Given the description of an element on the screen output the (x, y) to click on. 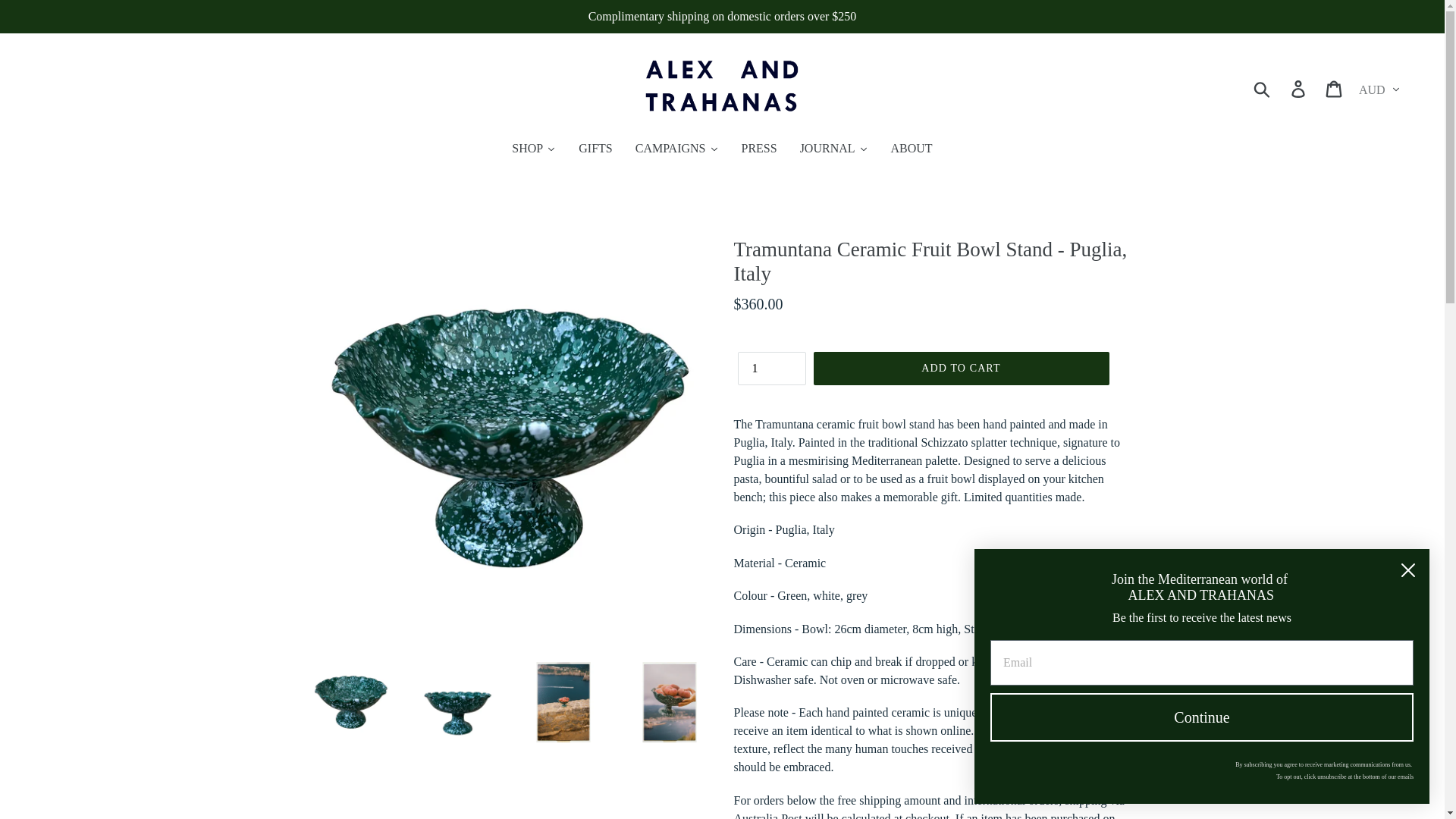
CAMPAIGNS (677, 149)
Submit (1262, 87)
1 (770, 368)
GIFTS (595, 149)
Cart (1334, 88)
PRESS (758, 149)
JOURNAL (834, 149)
SHOP (533, 149)
ABOUT (911, 149)
Log in (1299, 88)
